Given the description of an element on the screen output the (x, y) to click on. 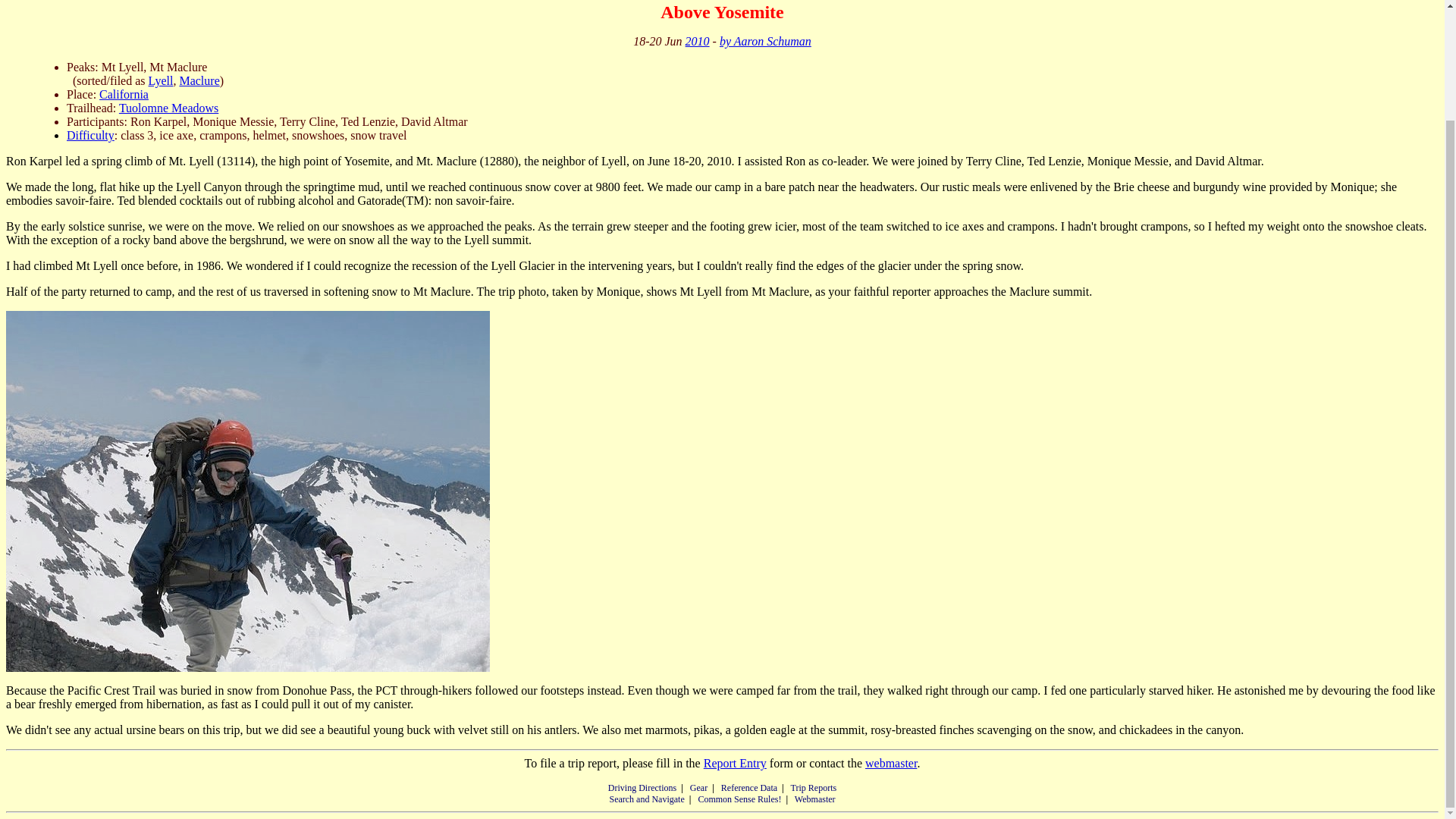
Lyell (160, 80)
Maclure (199, 80)
Trip Reports (813, 787)
webmaster (890, 762)
Tuolomne Meadows (168, 107)
2010 (697, 41)
Difficulty (90, 134)
California (123, 93)
Search and Navigate (646, 798)
by Aaron Schuman (764, 41)
